Given the description of an element on the screen output the (x, y) to click on. 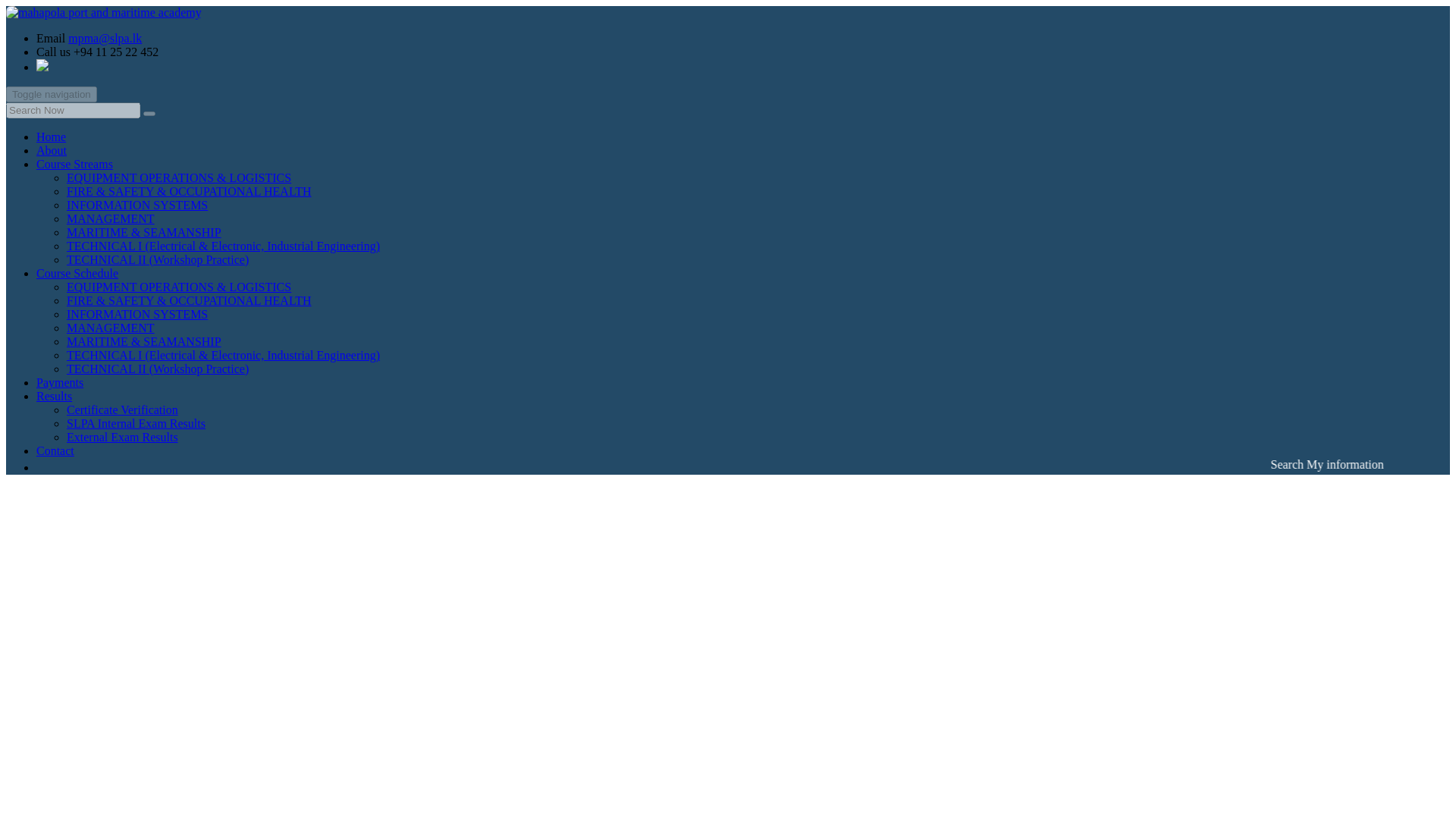
About (51, 150)
Home (50, 136)
INFORMATION SYSTEMS (137, 314)
Toggle navigation (51, 94)
Course Streams (74, 164)
INFORMATION SYSTEMS (137, 205)
MANAGEMENT (110, 218)
Course Schedule (76, 273)
